Given the description of an element on the screen output the (x, y) to click on. 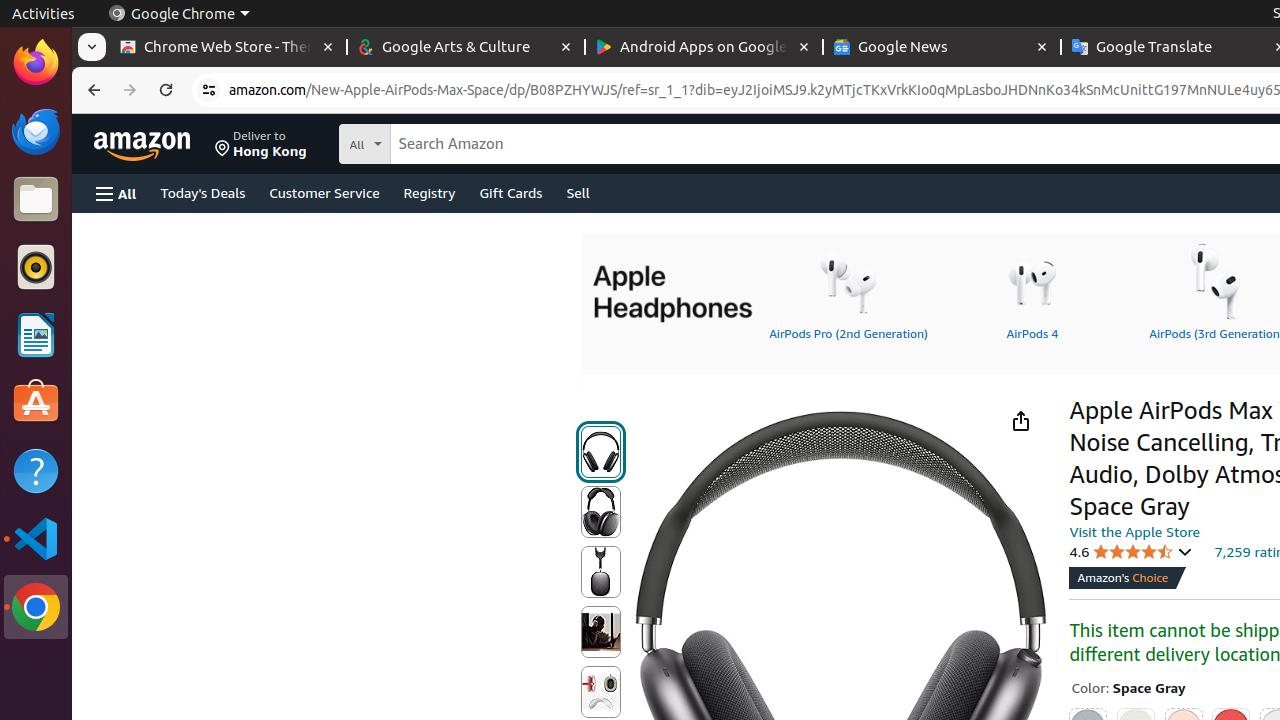
Visual Studio Code Element type: push-button (36, 538)
Ubuntu Software Element type: push-button (36, 402)
Visit the Apple Store Element type: link (1134, 531)
Registry Element type: link (429, 192)
AirPods Pro (2nd Generation) Element type: link (848, 291)
